Given the description of an element on the screen output the (x, y) to click on. 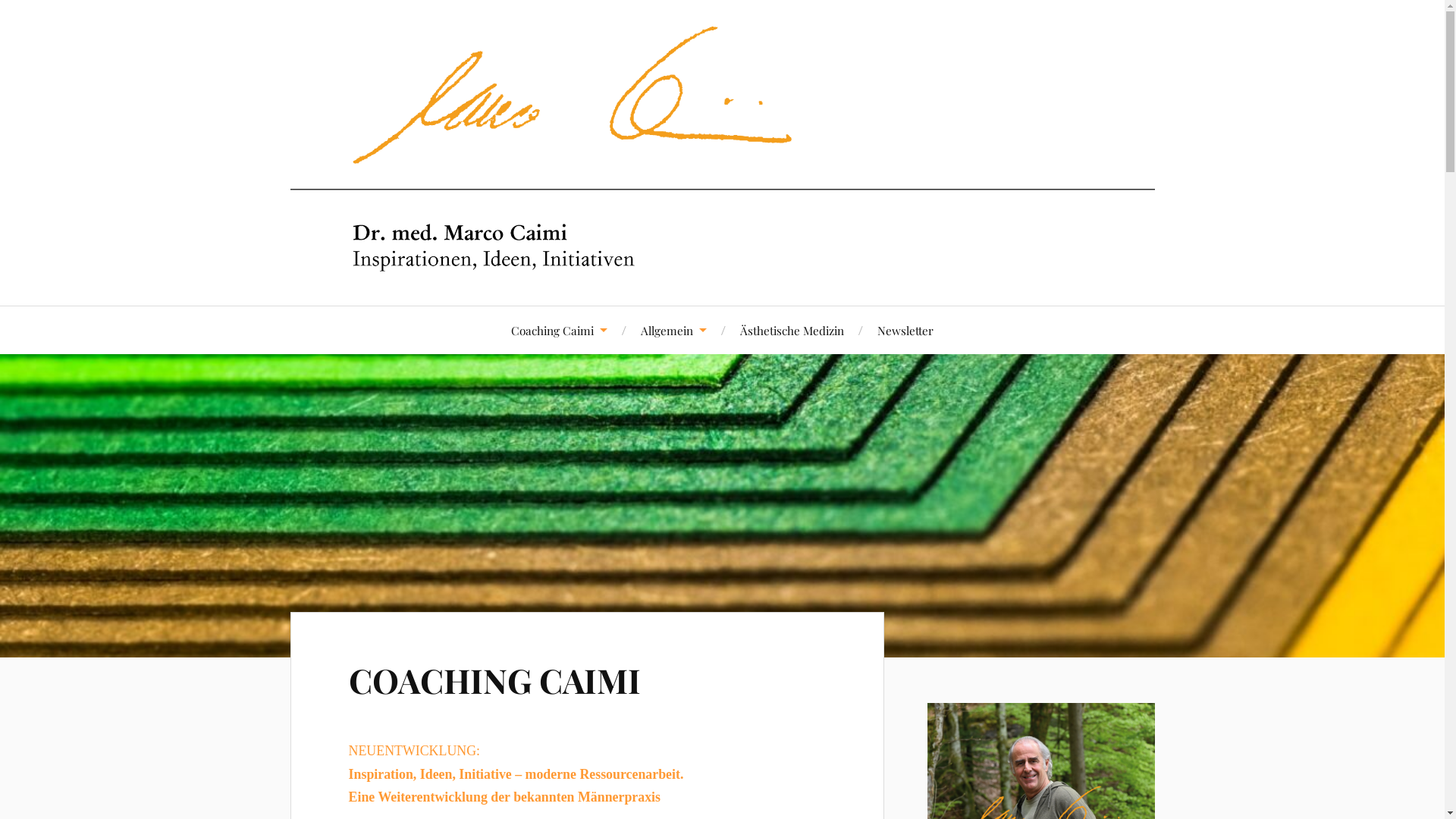
Allgemein Element type: text (673, 330)
Newsletter Element type: text (905, 330)
Coaching Caimi Element type: text (559, 330)
COACHING CAIMI Element type: text (494, 679)
